Given the description of an element on the screen output the (x, y) to click on. 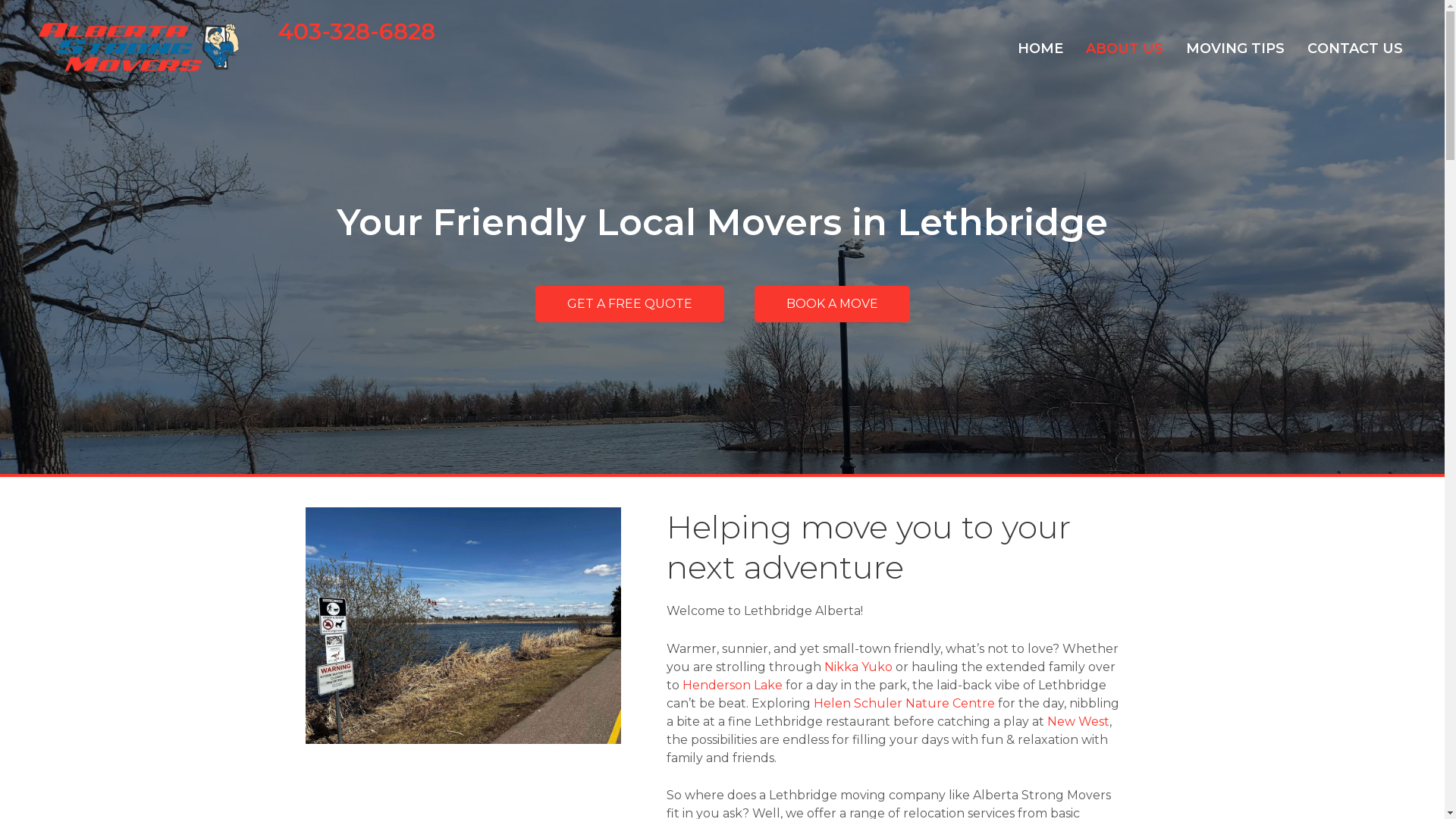
403-328-6828 Element type: text (356, 31)
GET A FREE QUOTE Element type: text (629, 303)
Nikka Yuko Element type: text (857, 666)
Henderson Lake Element type: text (732, 684)
BOOK A MOVE Element type: text (831, 303)
MOVING TIPS Element type: text (1235, 48)
alberta-strong-movers Element type: hover (138, 48)
CONTACT US Element type: text (1354, 48)
Telford Lake Leduc Element type: hover (462, 625)
HOME Element type: text (1040, 48)
Helen Schuler Nature Centre Element type: text (903, 703)
ABOUT US Element type: text (1124, 48)
New West Element type: text (1077, 721)
